Given the description of an element on the screen output the (x, y) to click on. 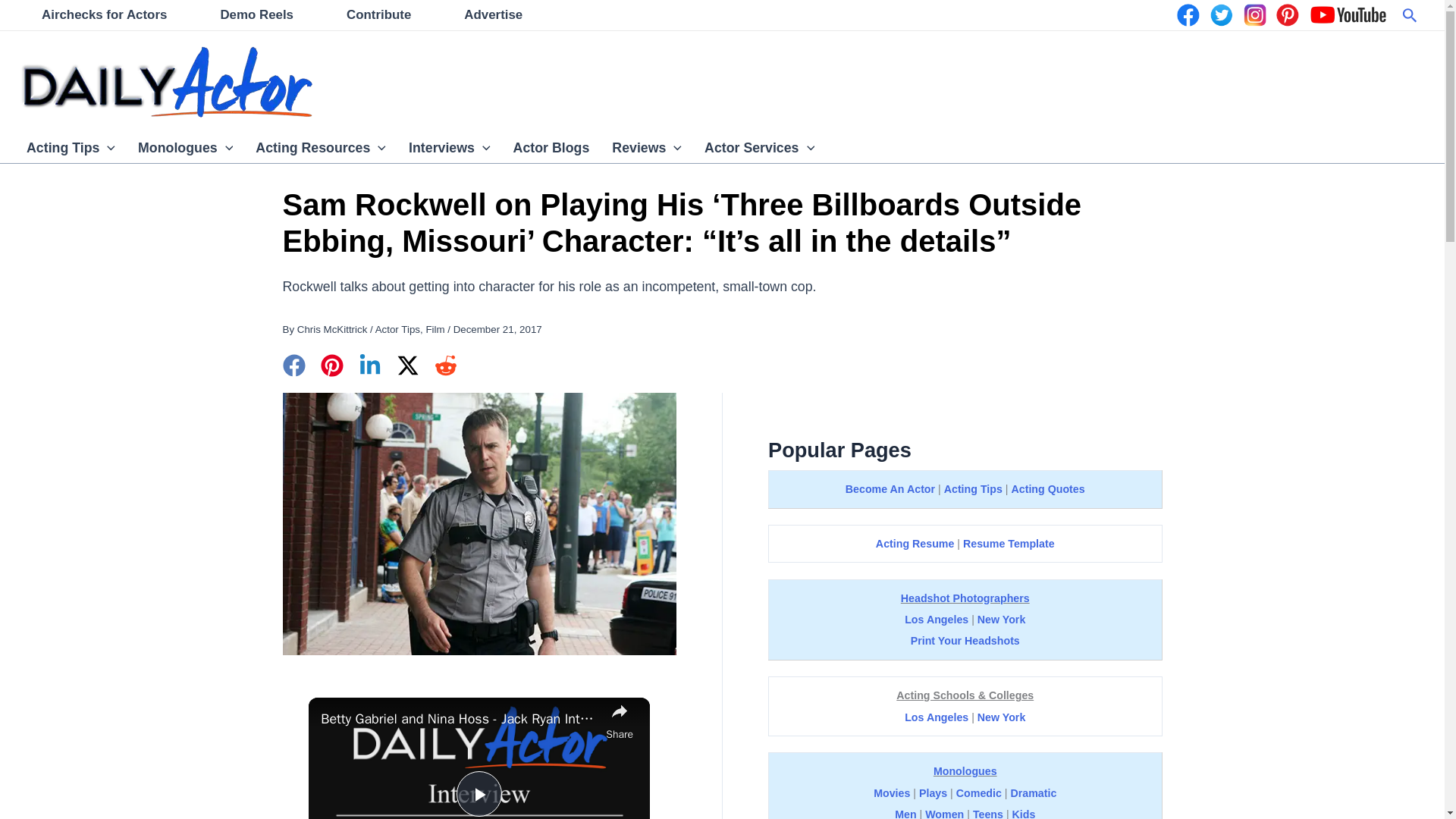
Demo Reels (256, 15)
Acting Tips (70, 147)
Play Video (479, 792)
Contribute (379, 15)
Airchecks for Actors (103, 15)
Advertise (493, 15)
View all posts by Chris McKittrick (332, 328)
Acting Resources (320, 147)
Monologues (185, 147)
